Given the description of an element on the screen output the (x, y) to click on. 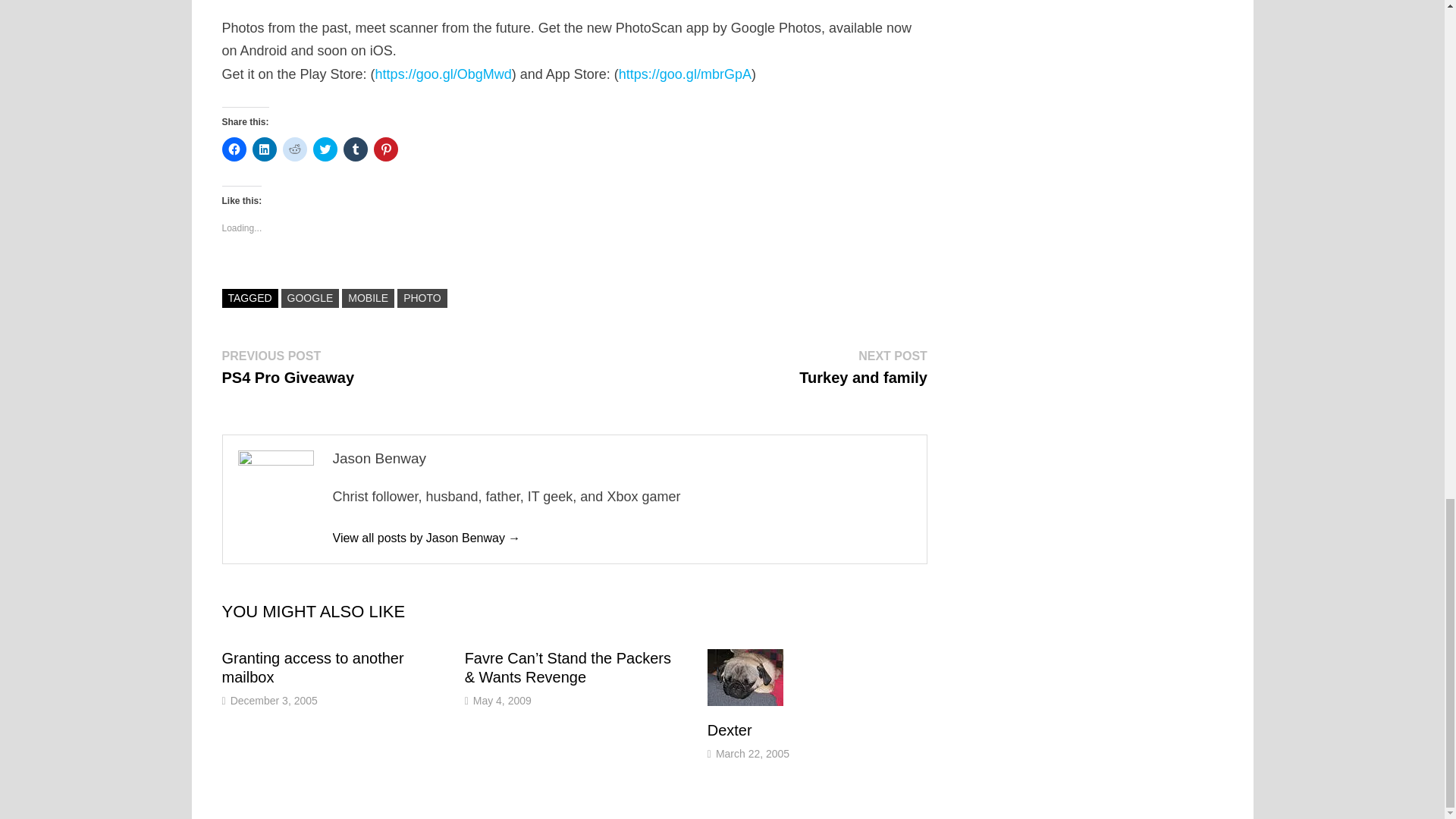
MOBILE (368, 298)
Dexter (729, 729)
GOOGLE (310, 298)
Click to share on Twitter (324, 149)
March 22, 2005 (752, 753)
May 4, 2009 (502, 700)
Click to share on LinkedIn (863, 366)
Click to share on Reddit (263, 149)
Dexter (293, 149)
